Given the description of an element on the screen output the (x, y) to click on. 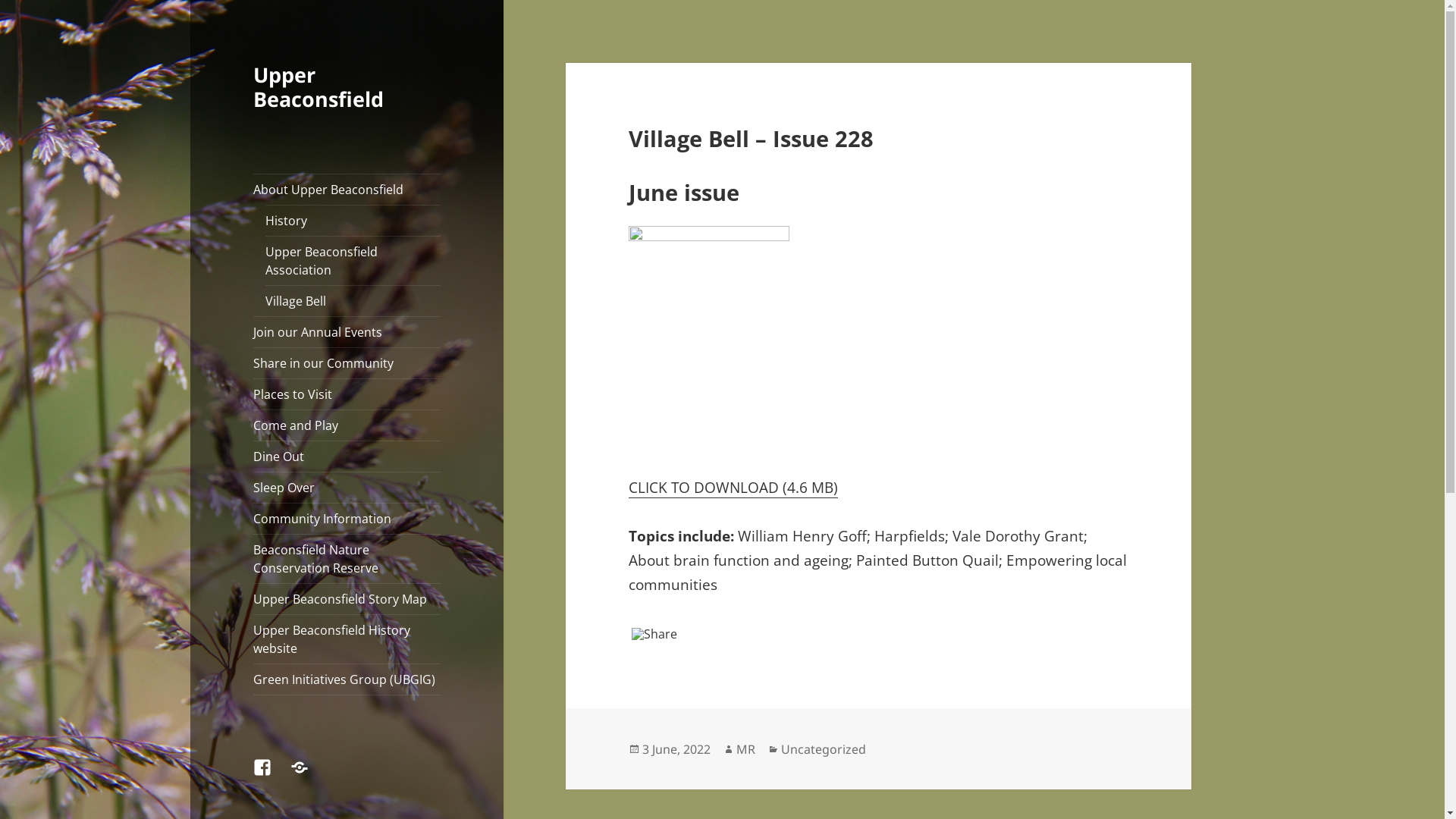
Places to Visit Element type: text (347, 394)
Like us on Facebook Element type: text (271, 776)
Join our Annual Events Element type: text (347, 331)
Site Feed Element type: text (308, 776)
Dine Out Element type: text (347, 456)
Uncategorized Element type: text (823, 749)
MR Element type: text (745, 749)
Village Bell Element type: text (353, 300)
CLICK TO DOWNLOAD (4.6 MB) Element type: text (732, 487)
History Element type: text (353, 220)
Green Initiatives Group (UBGIG) Element type: text (347, 679)
Community Information Element type: text (347, 518)
Share in our Community Element type: text (347, 363)
About Upper Beaconsfield Element type: text (347, 189)
3 June, 2022 Element type: text (676, 749)
Upper Beaconsfield Story Map Element type: text (347, 598)
Upper Beaconsfield Association Element type: text (353, 260)
Sleep Over Element type: text (347, 487)
Come and Play Element type: text (347, 425)
Upper Beaconsfield Element type: text (318, 86)
Upper Beaconsfield History website Element type: text (347, 639)
Beaconsfield Nature Conservation Reserve Element type: text (347, 558)
